Given the description of an element on the screen output the (x, y) to click on. 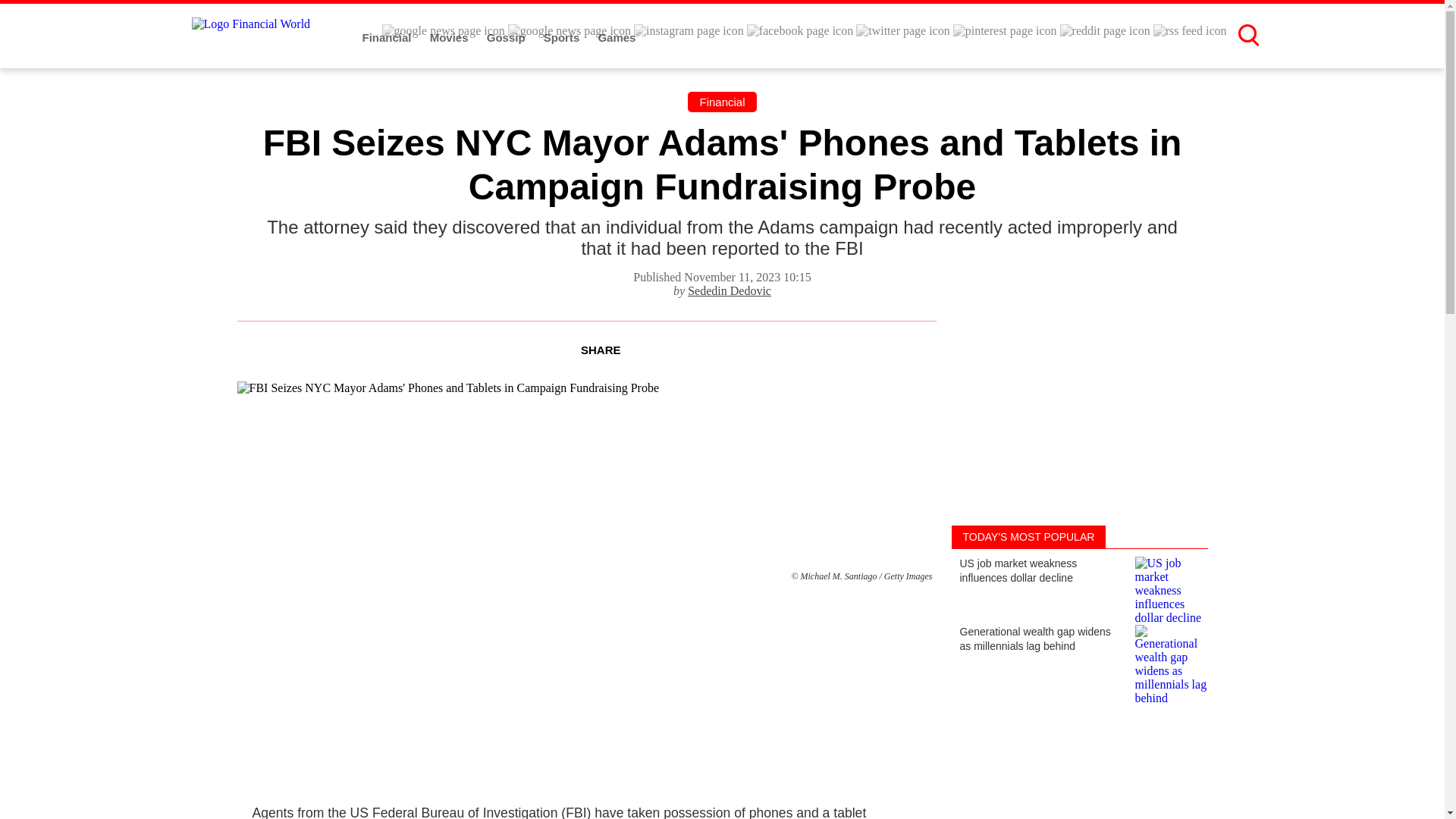
Financial (388, 37)
US job market weakness influences dollar decline (1078, 582)
Sports (563, 37)
Movies (450, 37)
Sededin Dedovic (729, 290)
Games (615, 37)
Financial (721, 101)
Gossip (507, 37)
Generational wealth gap widens as millennials lag behind (1078, 651)
